Given the description of an element on the screen output the (x, y) to click on. 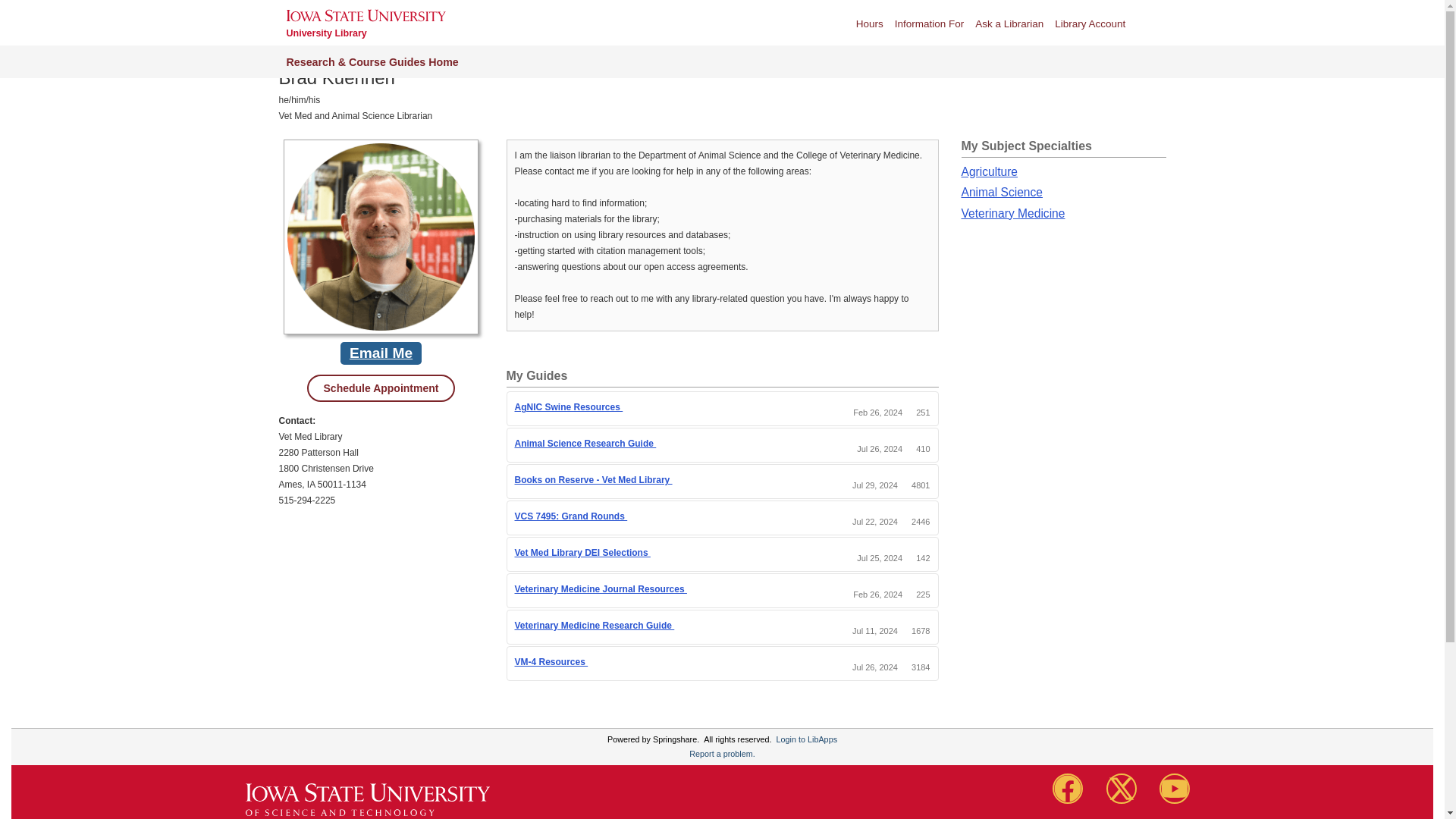
Animal Science Research Guide (584, 443)
Last update (878, 593)
View Guide Info (628, 407)
VM-4 Resources (550, 661)
View Guide Info (661, 443)
Schedule Appointment (381, 388)
Views (922, 593)
Login to LibApps (806, 738)
Report a problem. (721, 753)
View Guide Info (692, 589)
Views (920, 521)
View Guide Info (593, 662)
Last update (878, 411)
Information For (929, 23)
Email Me (380, 353)
